Given the description of an element on the screen output the (x, y) to click on. 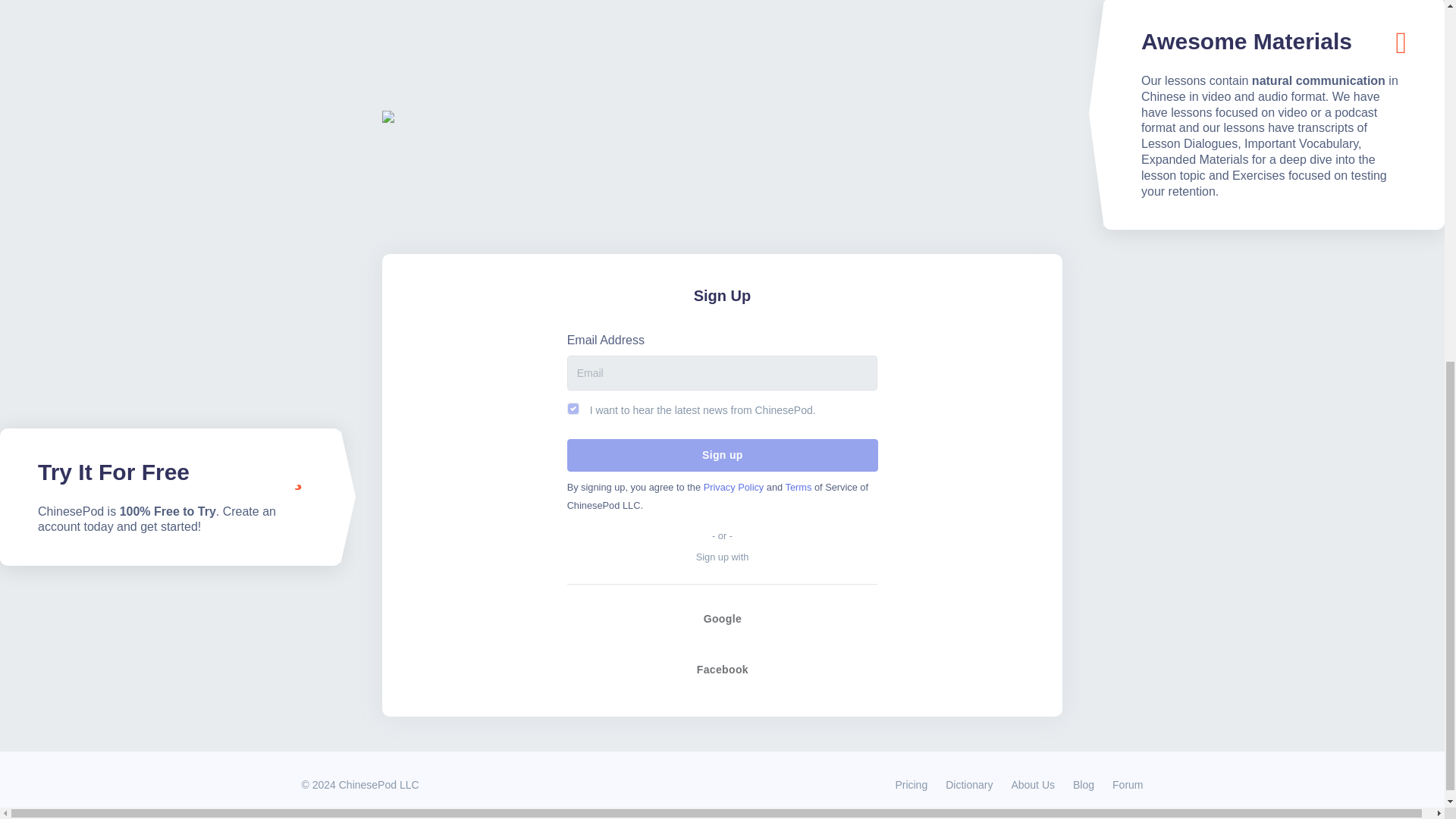
Terms (799, 487)
Google (722, 626)
Facebook (722, 668)
About Us (1032, 784)
Google (722, 618)
Privacy Policy (733, 487)
Forum (1122, 784)
Facebook (722, 669)
Pricing (910, 784)
Blog (1083, 784)
